Given the description of an element on the screen output the (x, y) to click on. 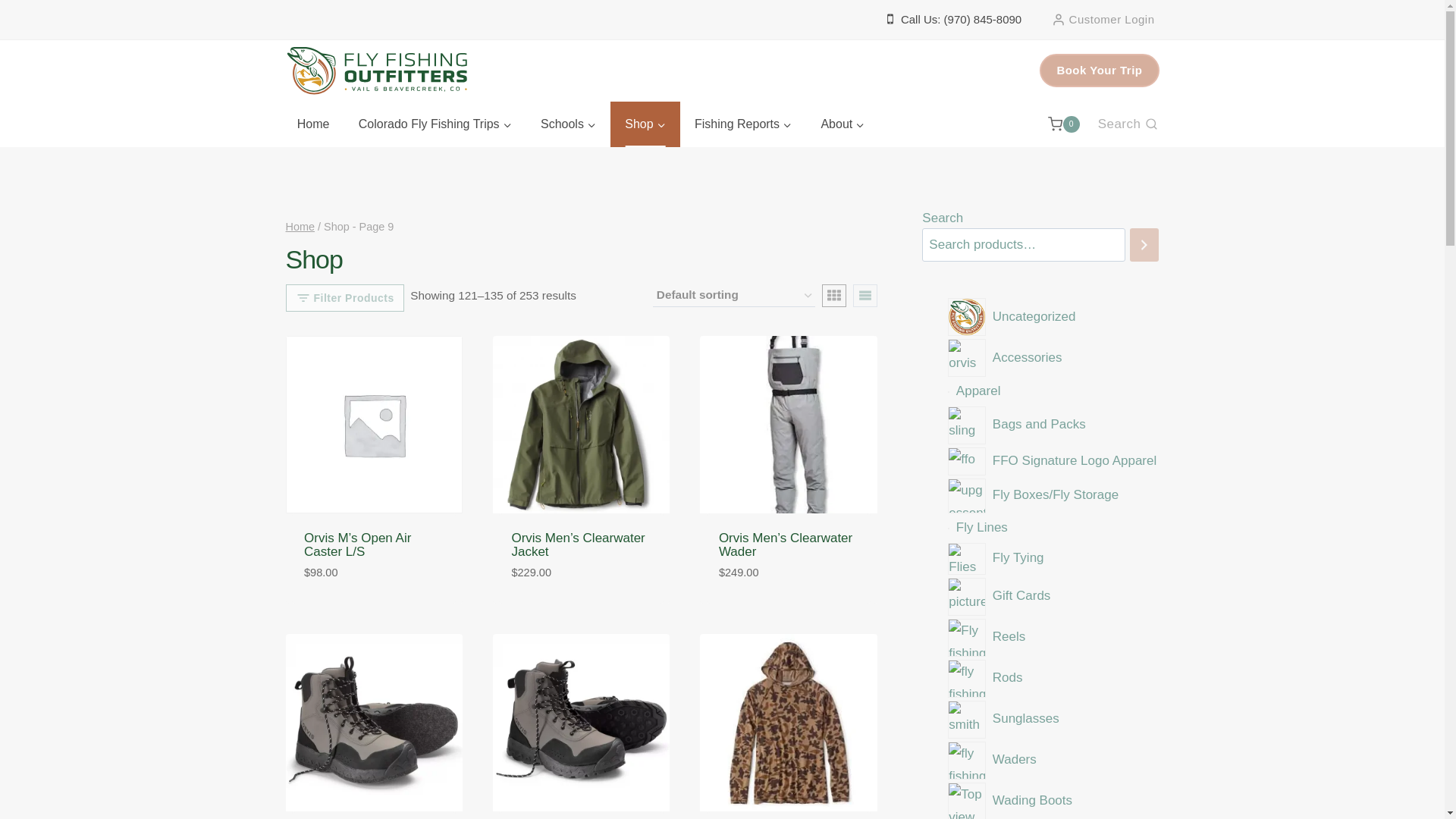
Customer Login (1103, 19)
Schools (567, 123)
Fishing Reports (742, 123)
Home (312, 123)
Shop (644, 123)
Grid View (833, 295)
Book Your Trip (1098, 70)
List View (865, 295)
Colorado Fly Fishing Trips (434, 123)
